Given the description of an element on the screen output the (x, y) to click on. 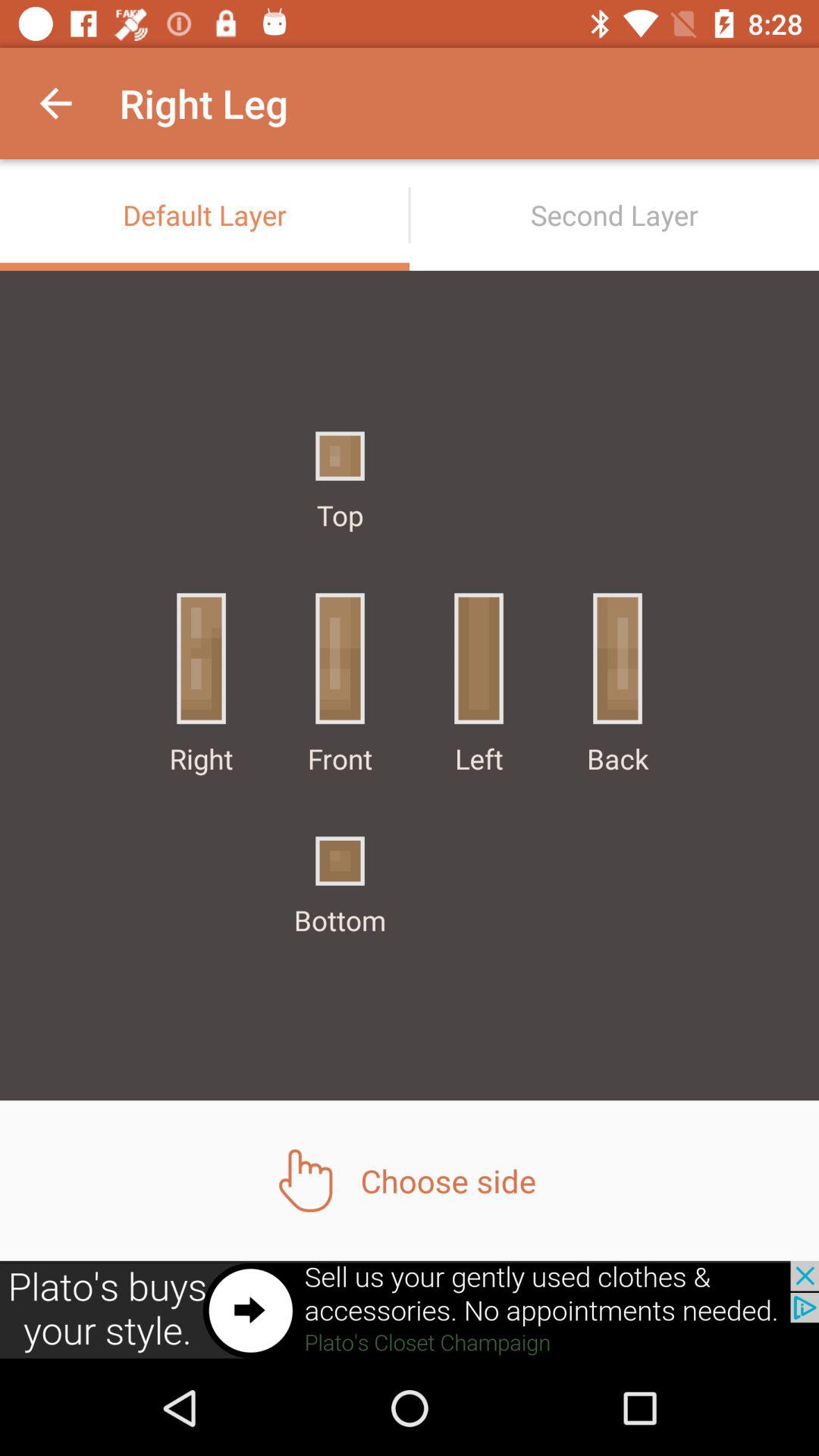
showing the advertisement (409, 1310)
